Given the description of an element on the screen output the (x, y) to click on. 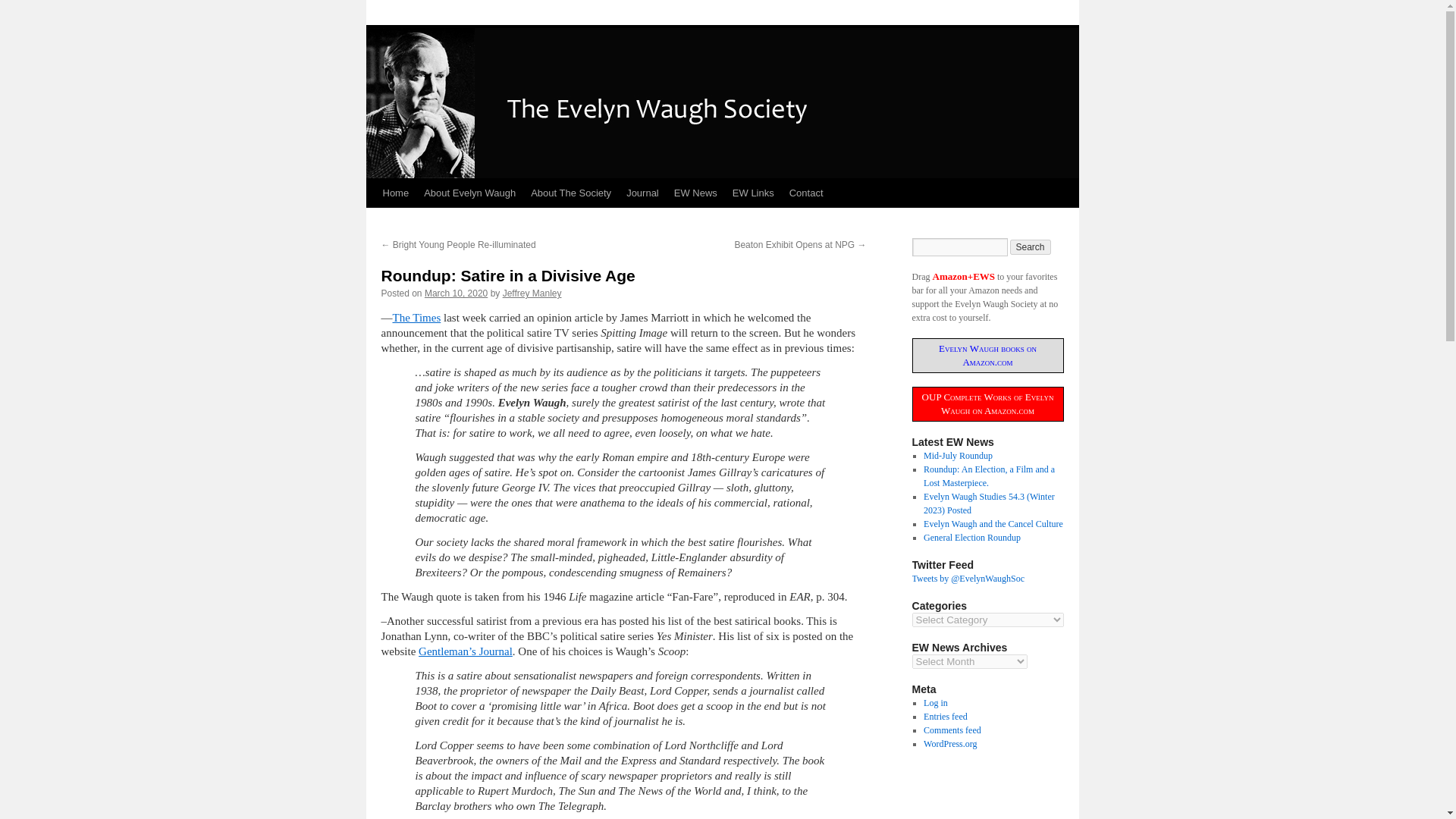
About The Society (570, 193)
March 10, 2020 (456, 293)
Home (395, 193)
Jeffrey Manley (532, 293)
Contact (806, 193)
Journal (642, 193)
EW News (695, 193)
About Evelyn Waugh (469, 193)
EW Links (753, 193)
Search (1030, 246)
View all posts by Jeffrey Manley (532, 293)
11:49 AM (456, 293)
The Times (417, 317)
